Given the description of an element on the screen output the (x, y) to click on. 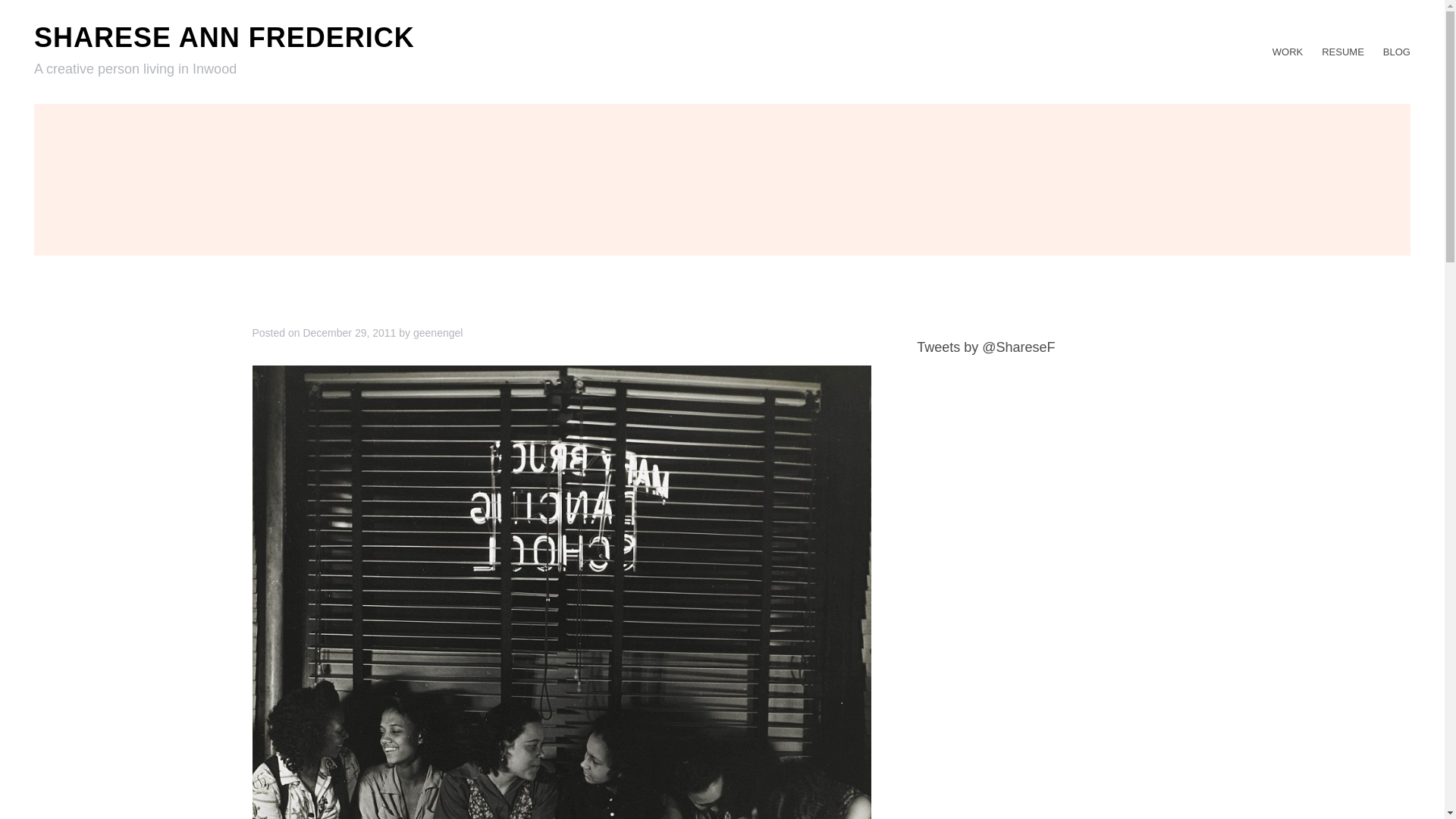
December 29, 2011 (349, 332)
WORK (1287, 51)
RESUME (1343, 51)
BLOG (1396, 51)
SHARESE ANN FREDERICK (223, 37)
geenengel (438, 332)
